Given the description of an element on the screen output the (x, y) to click on. 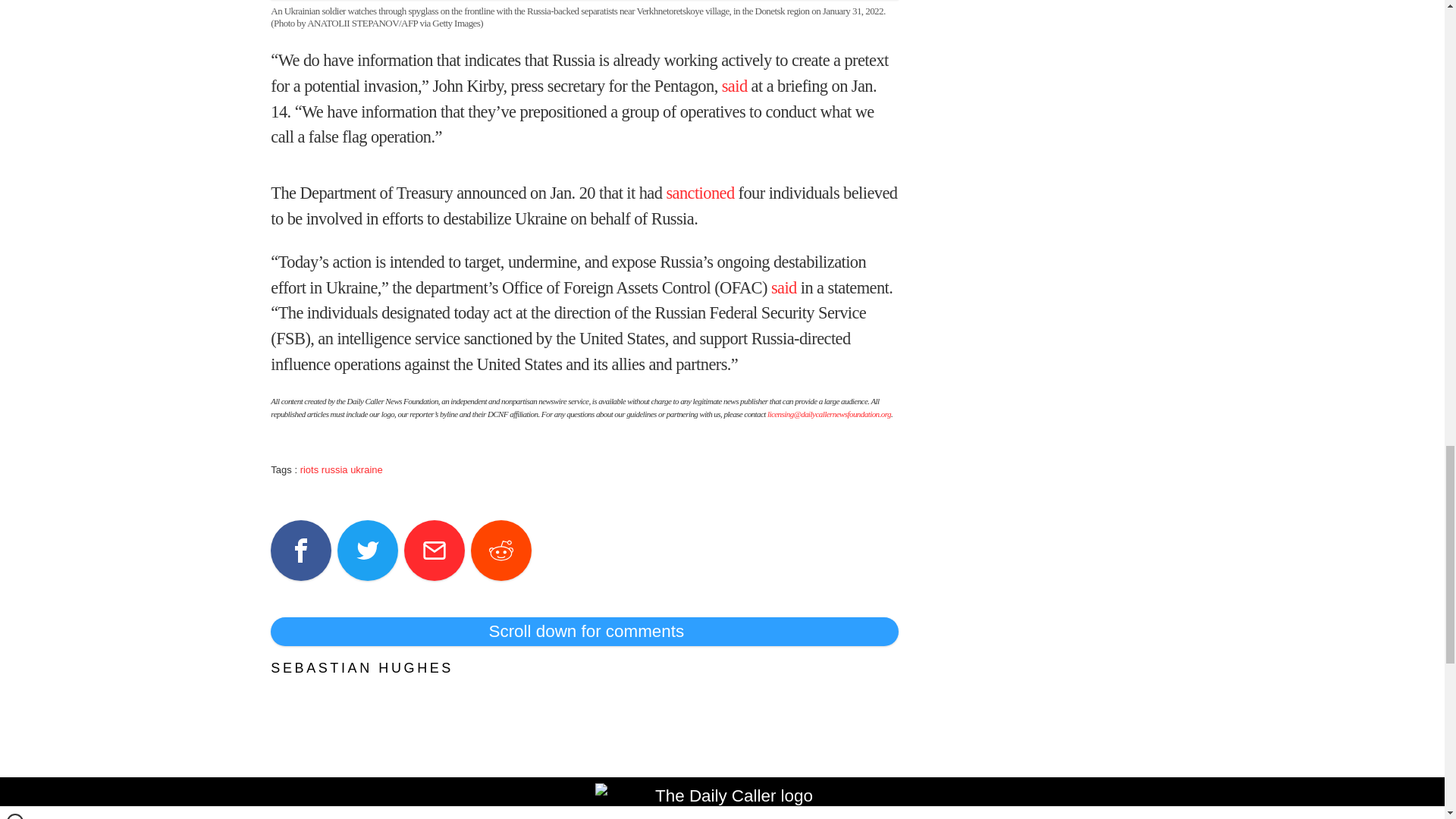
To home page (727, 800)
Scroll down for comments (584, 631)
